Given the description of an element on the screen output the (x, y) to click on. 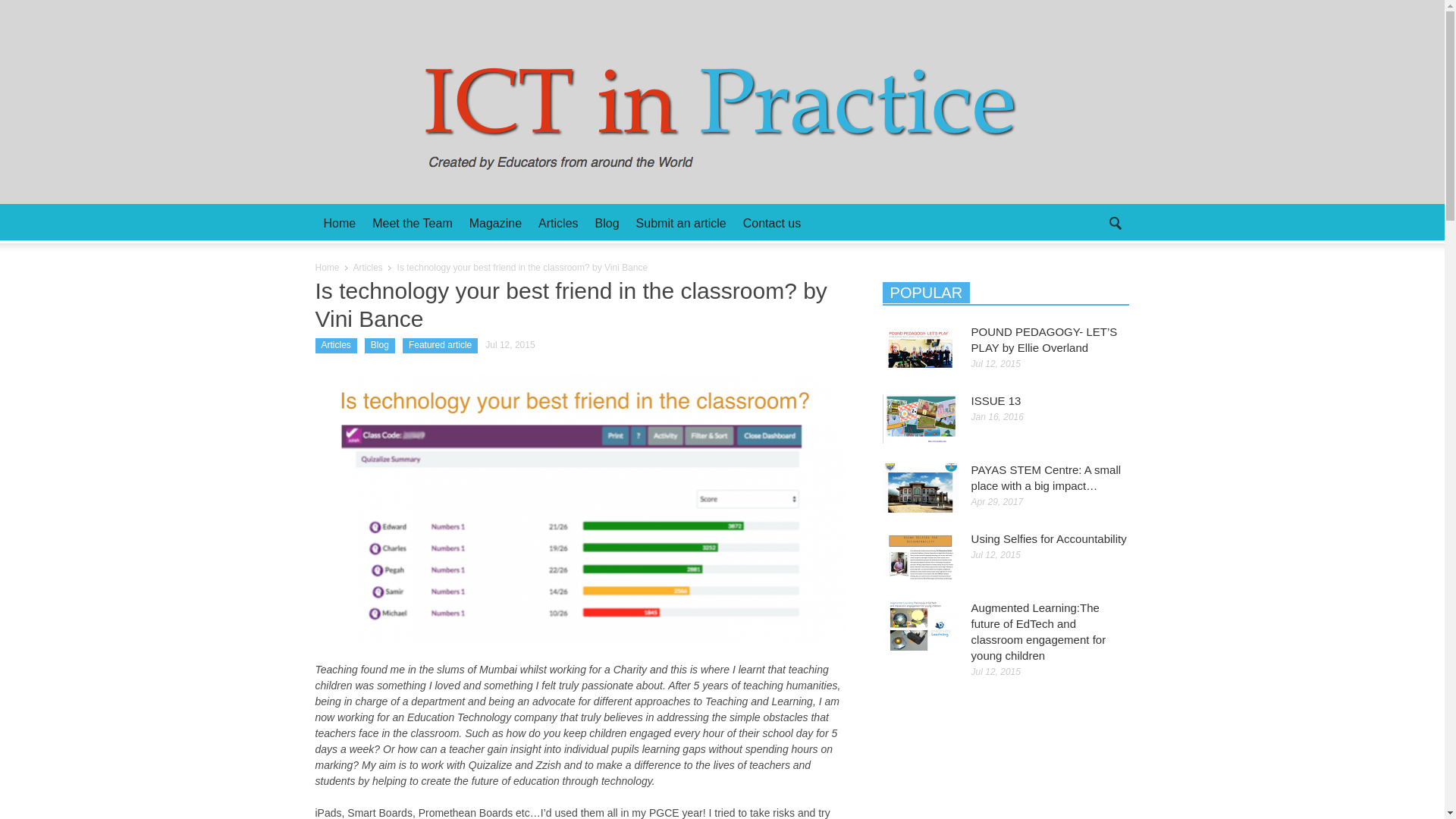
Contact us (772, 223)
Articles (367, 267)
Meet the Team (412, 223)
ISSUE 13 (996, 400)
ISSUE 13 (920, 418)
Articles (335, 345)
Featured article (440, 345)
Home (327, 267)
